Given the description of an element on the screen output the (x, y) to click on. 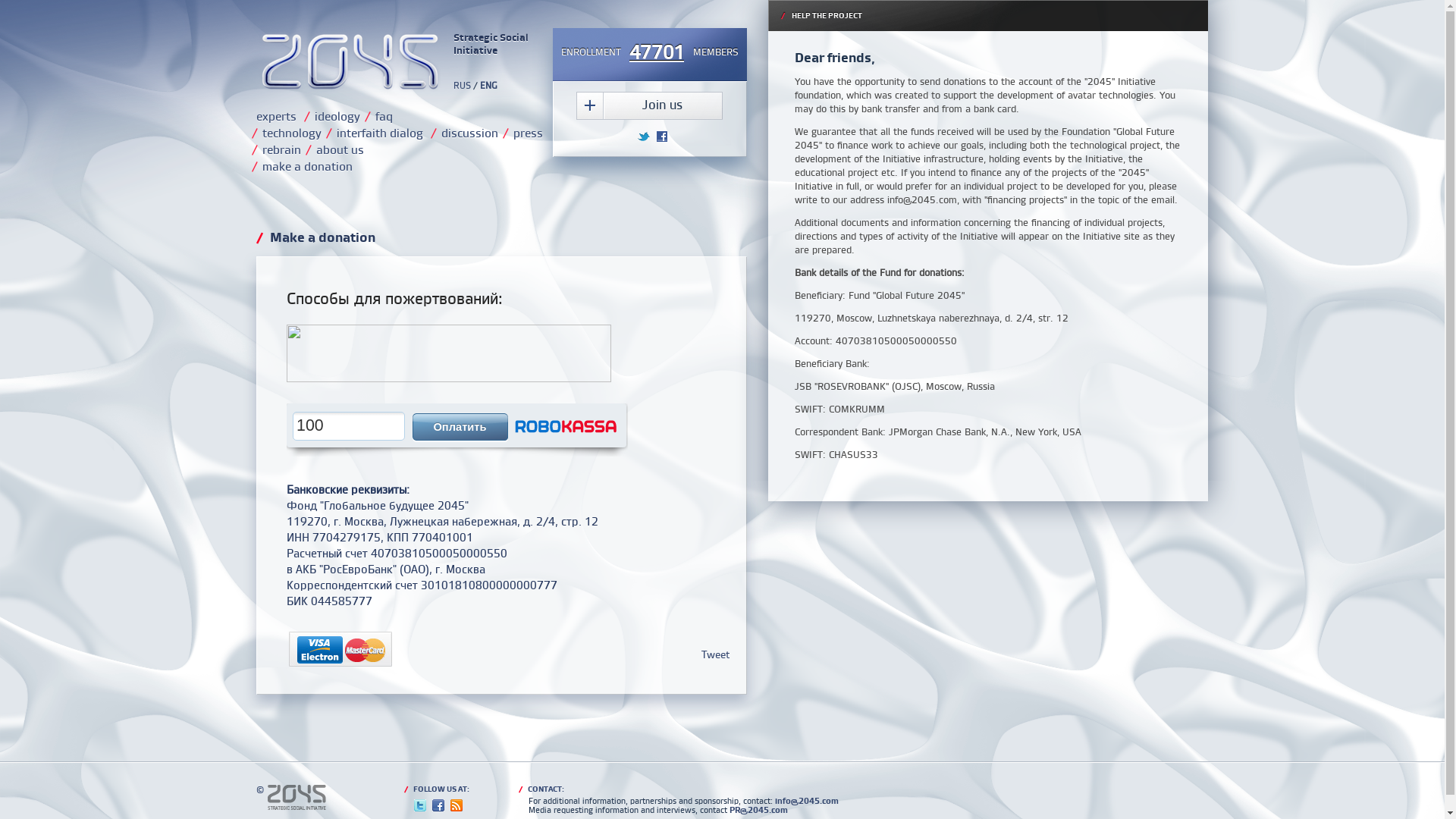
technology Element type: text (291, 132)
press Element type: text (527, 132)
PR@2045.com Element type: text (758, 809)
ENROLLMENT47701MEMBERS Element type: text (648, 52)
faq Element type: text (383, 115)
Join us Element type: text (649, 105)
interfaith dialog Element type: text (379, 132)
rebrain Element type: text (281, 149)
/ CONTACT: Element type: text (678, 788)
Strategic Social Initiative Element type: text (394, 61)
RUS Element type: text (461, 84)
Tweet Element type: text (715, 653)
make a donation Element type: text (307, 165)
info@2045.com Element type: text (806, 800)
about us Element type: text (339, 149)
discussion Element type: text (469, 132)
ENG Element type: text (487, 84)
experts Element type: text (276, 115)
ideology Element type: text (336, 115)
